Given the description of an element on the screen output the (x, y) to click on. 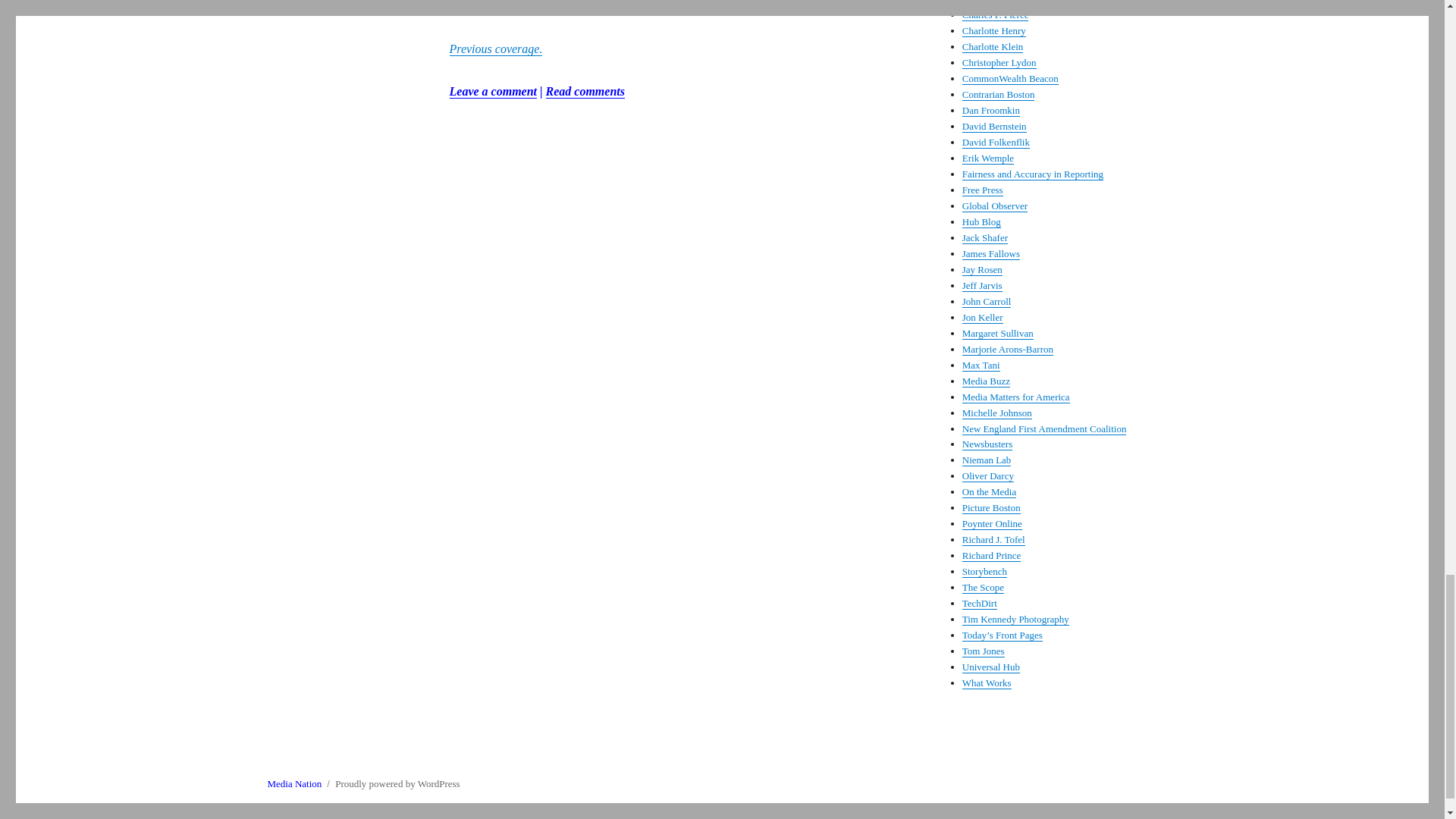
Read comments (585, 91)
Previous coverage. (494, 48)
Leave a comment (492, 91)
